Given the description of an element on the screen output the (x, y) to click on. 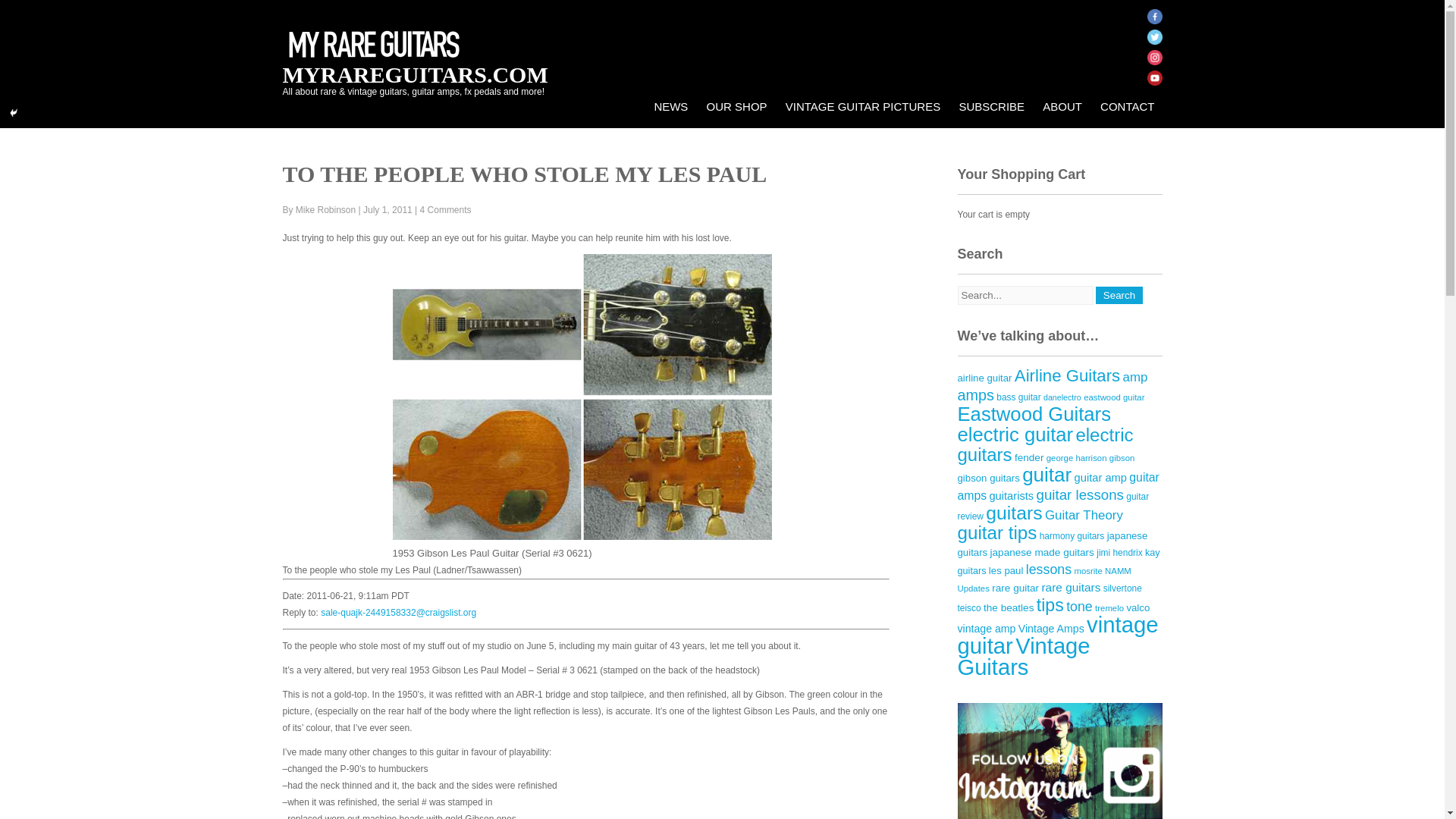
Hide (13, 112)
OUR SHOP (736, 106)
Search (1119, 294)
4 Comments (445, 209)
NEWS (670, 106)
CONTACT (1127, 106)
ABOUT (1062, 106)
Search (1119, 294)
SUBSCRIBE (991, 106)
VINTAGE GUITAR PICTURES (862, 106)
